Given the description of an element on the screen output the (x, y) to click on. 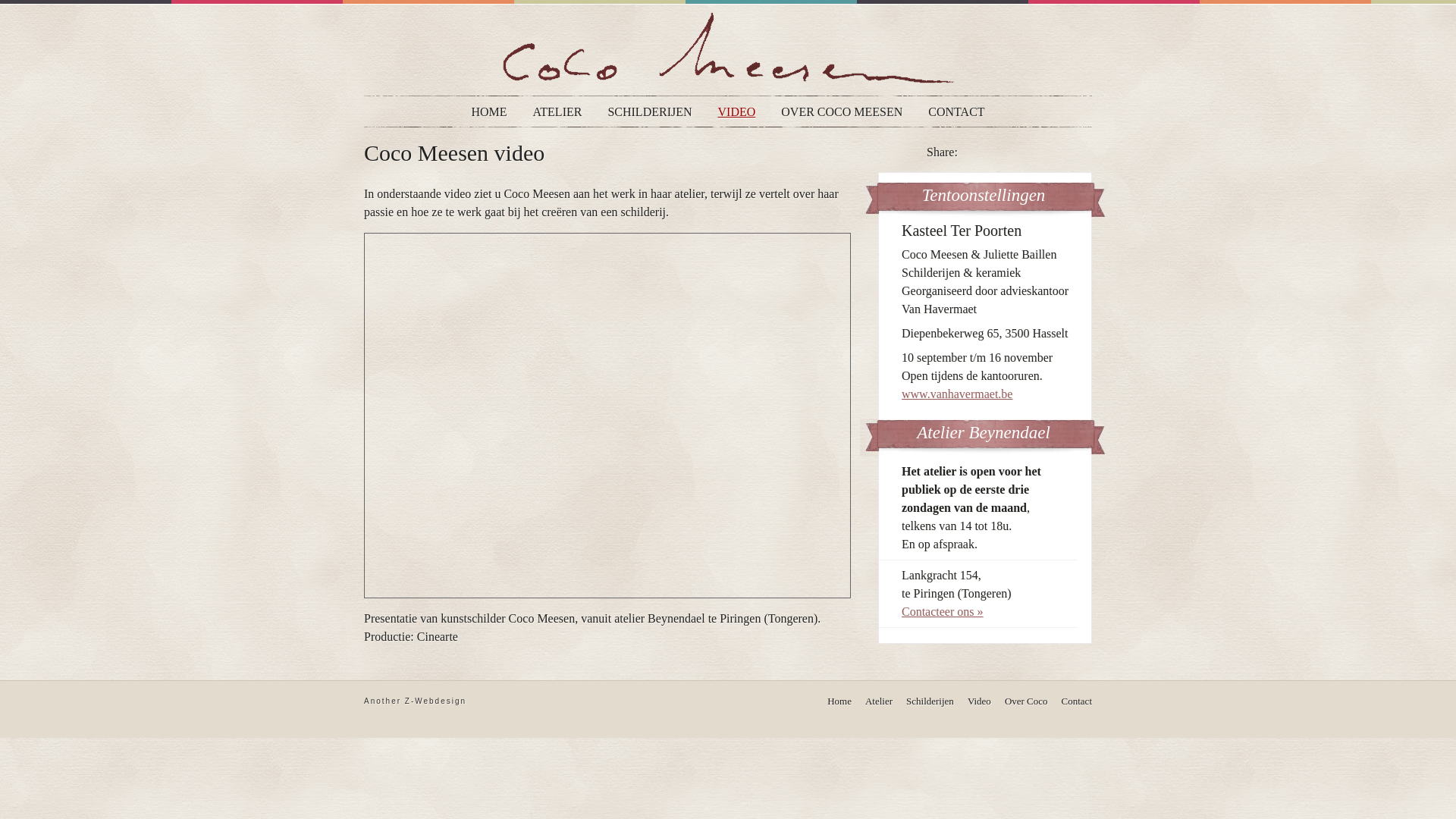
Atelier Element type: text (878, 700)
VIDEO Element type: text (736, 111)
Video Element type: text (979, 700)
SCHILDERIJEN Element type: text (649, 111)
OVER COCO MEESEN Element type: text (841, 111)
Another Z-Webdesign Element type: text (415, 700)
www.vanhavermaet.be Element type: text (956, 393)
Over Coco Element type: text (1026, 700)
ATELIER Element type: text (557, 111)
Contact Element type: text (1076, 700)
Schilderijen Element type: text (929, 700)
HOME Element type: text (488, 111)
Home Element type: text (839, 700)
CONTACT Element type: text (955, 111)
